Given the description of an element on the screen output the (x, y) to click on. 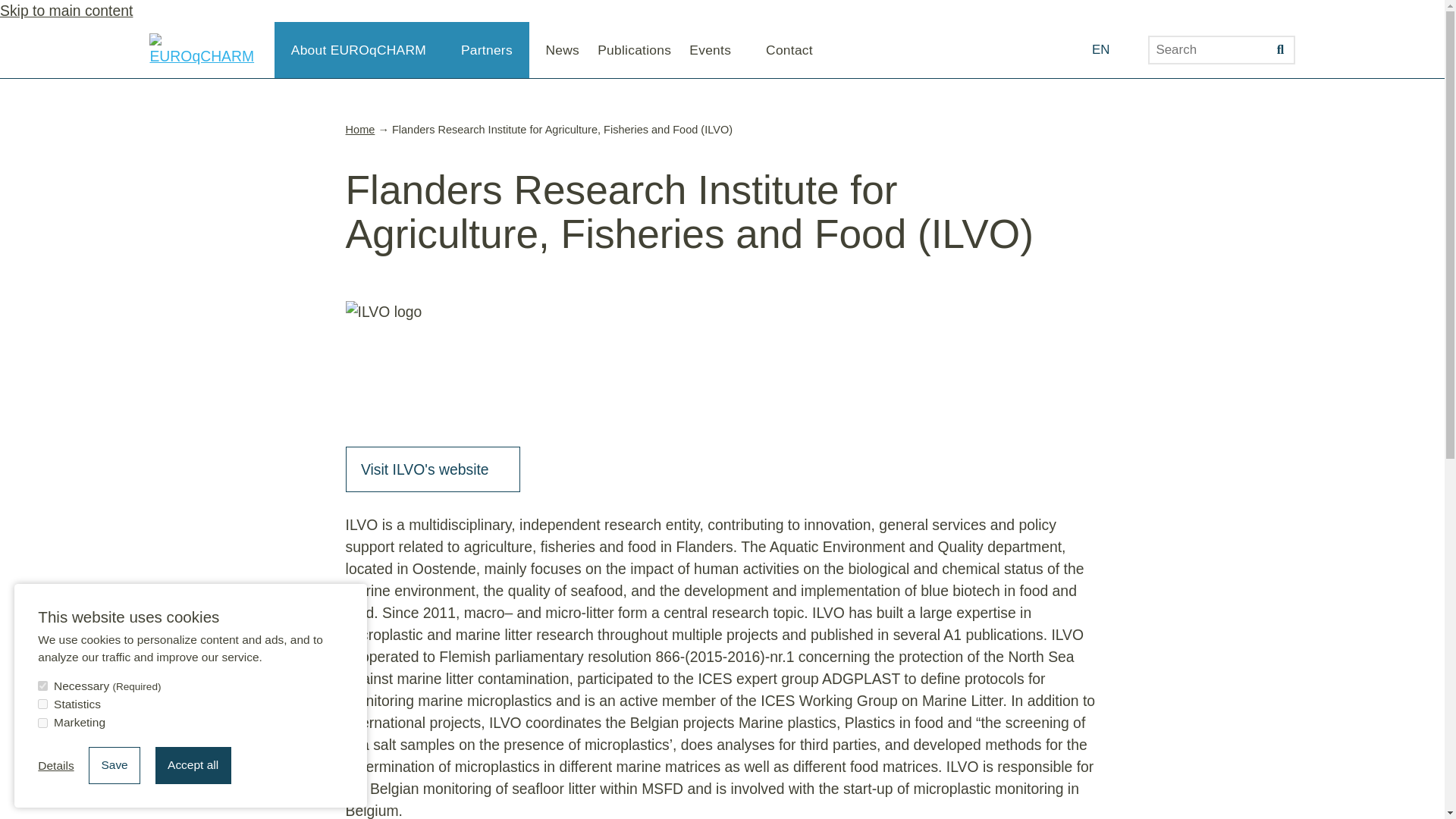
News (561, 49)
Visit ILVO's website (433, 469)
Home (360, 129)
Partners (486, 49)
Contact (788, 49)
About EUROqCHARM (366, 49)
Publications (633, 49)
Events (718, 49)
Search (1281, 49)
on (42, 685)
